Given the description of an element on the screen output the (x, y) to click on. 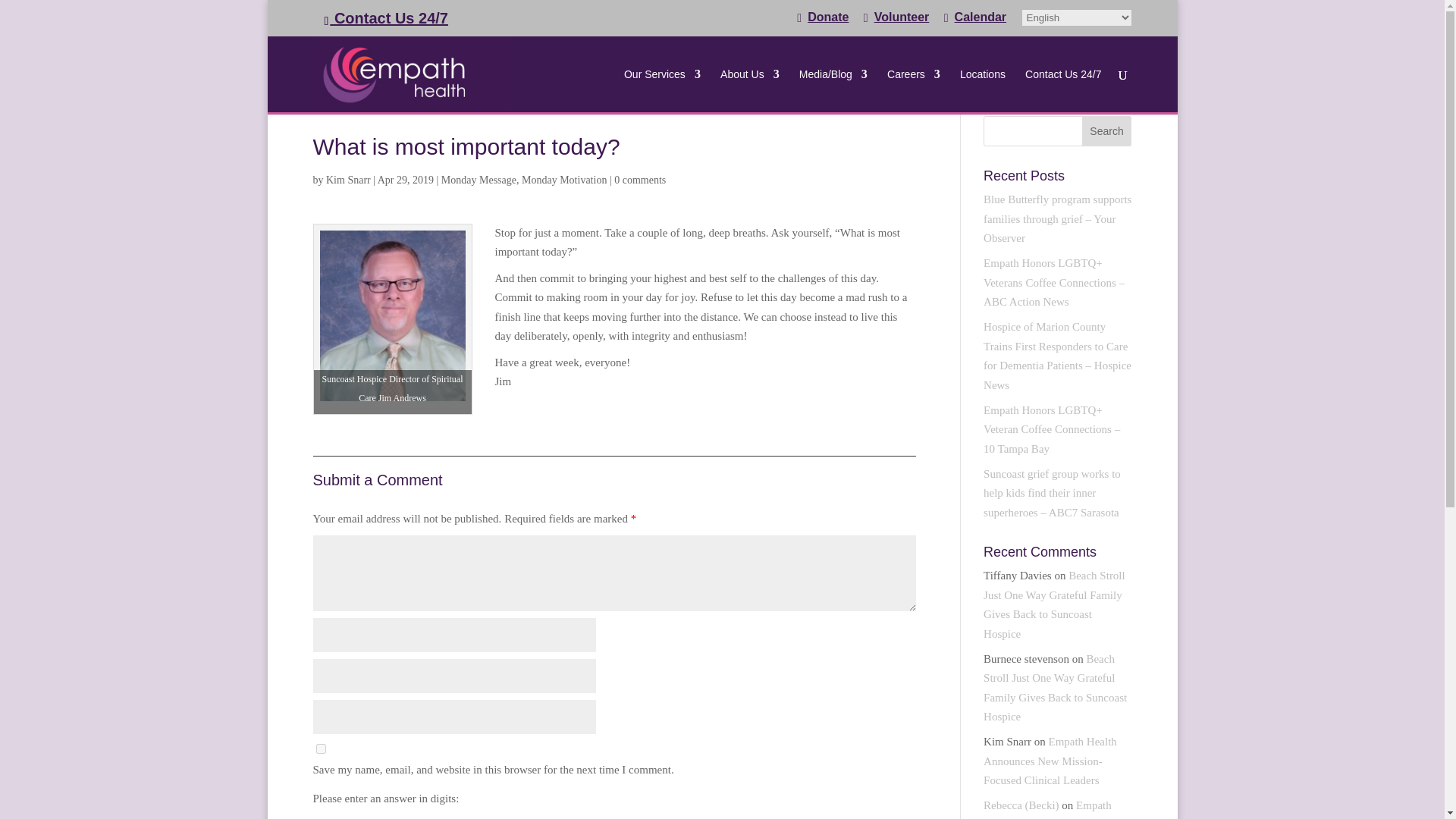
Posts by Kim Snarr (348, 179)
Locations (982, 90)
About Us (749, 90)
Search (1106, 131)
Our Services (662, 90)
Volunteer (895, 22)
yes (319, 748)
Donate (822, 22)
Calendar (974, 22)
Careers (913, 90)
